Given the description of an element on the screen output the (x, y) to click on. 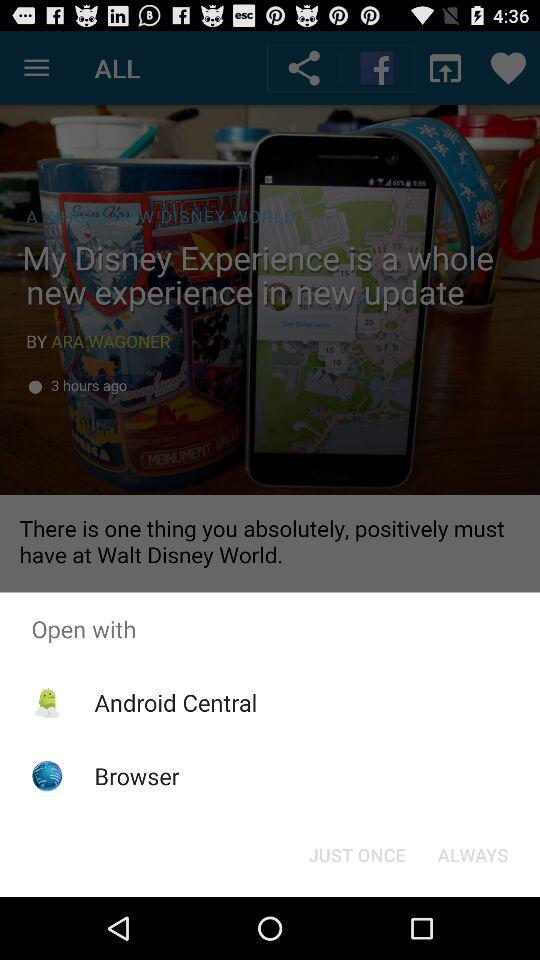
scroll until android central (175, 702)
